Given the description of an element on the screen output the (x, y) to click on. 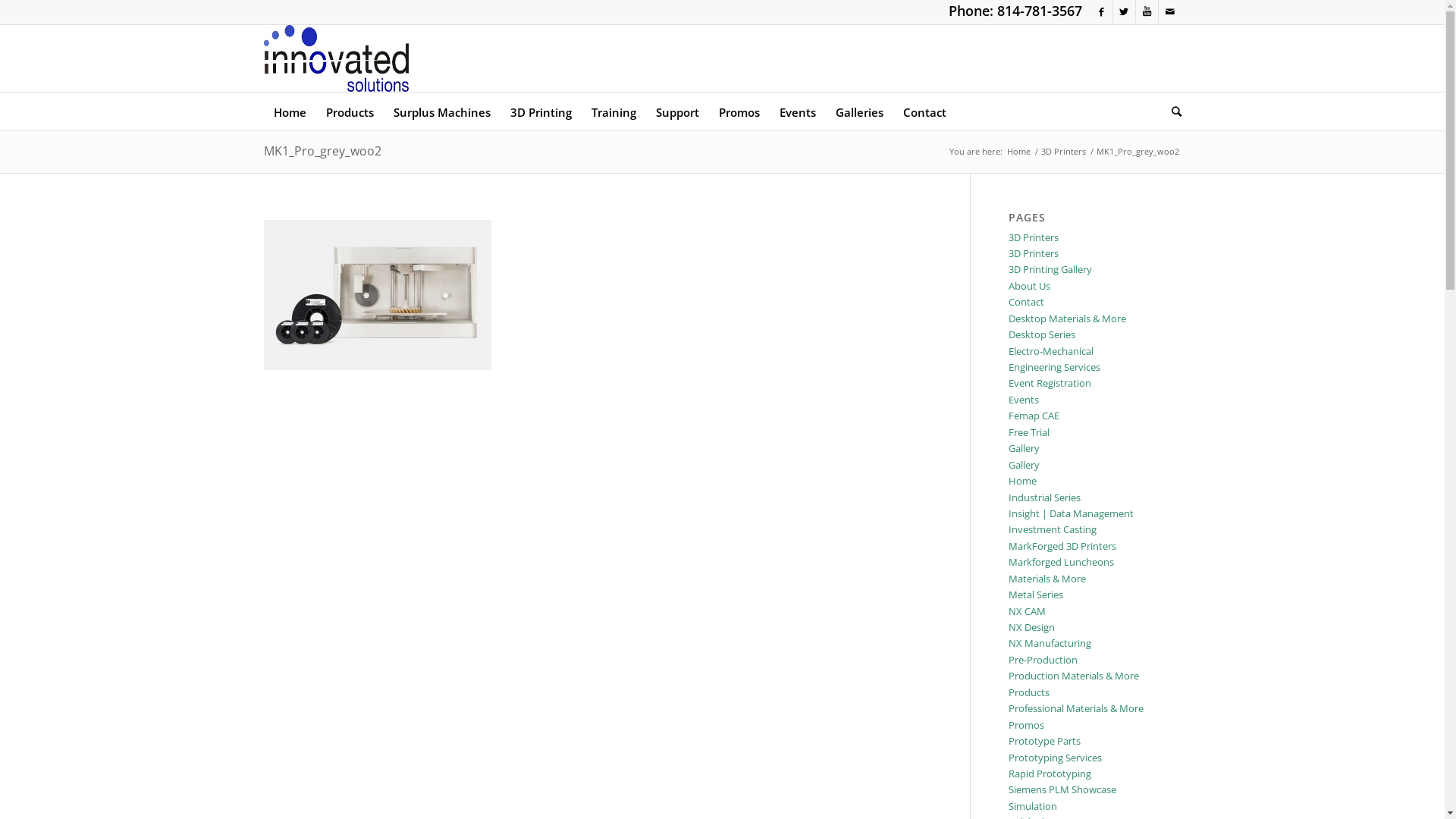
Event Registration Element type: text (1049, 382)
Promos Element type: text (738, 111)
Industrial Series Element type: text (1044, 497)
3D Printers Element type: text (1063, 150)
Products Element type: text (1028, 692)
Training Element type: text (612, 111)
Engineering Services Element type: text (1054, 366)
Gallery Element type: text (1023, 464)
Investment Casting Element type: text (1052, 529)
Contact Element type: text (1026, 301)
MarkForged 3D Printers Element type: text (1062, 545)
Home Element type: text (1022, 480)
Twitter Element type: hover (1124, 11)
NX Design Element type: text (1031, 626)
Promos Element type: text (1026, 724)
Galleries Element type: text (858, 111)
Insight | Data Management Element type: text (1070, 513)
Materials & More Element type: text (1046, 578)
Youtube Element type: hover (1146, 11)
Production Materials & More Element type: text (1073, 675)
Desktop Materials & More Element type: text (1067, 318)
About Us Element type: text (1029, 285)
Products Element type: text (348, 111)
Professional Materials & More Element type: text (1075, 708)
Markforged Luncheons Element type: text (1060, 561)
Siemens PLM Showcase Element type: text (1062, 789)
Desktop Series Element type: text (1041, 334)
Rapid Prototyping Element type: text (1049, 773)
Metal Series Element type: text (1035, 594)
Facebook Element type: hover (1101, 11)
Prototype Parts Element type: text (1044, 740)
Support Element type: text (677, 111)
3D Printers Element type: text (1033, 253)
Free Trial Element type: text (1028, 432)
3D Printing Element type: text (540, 111)
3D Printing Gallery Element type: text (1050, 269)
NX Manufacturing Element type: text (1049, 642)
Events Element type: text (796, 111)
Electro-Mechanical Element type: text (1050, 350)
Simulation Element type: text (1032, 805)
Gallery Element type: text (1023, 448)
Home Element type: text (289, 111)
Surplus Machines Element type: text (441, 111)
Femap CAE Element type: text (1033, 415)
Events Element type: text (1023, 399)
MK1_Pro_grey_woo2 Element type: text (322, 150)
Prototyping Services Element type: text (1054, 757)
Pre-Production Element type: text (1042, 659)
Home Element type: text (1018, 150)
3D Printers Element type: text (1033, 237)
Contact Element type: text (924, 111)
Mail Element type: hover (1169, 11)
NX CAM Element type: text (1026, 611)
